Given the description of an element on the screen output the (x, y) to click on. 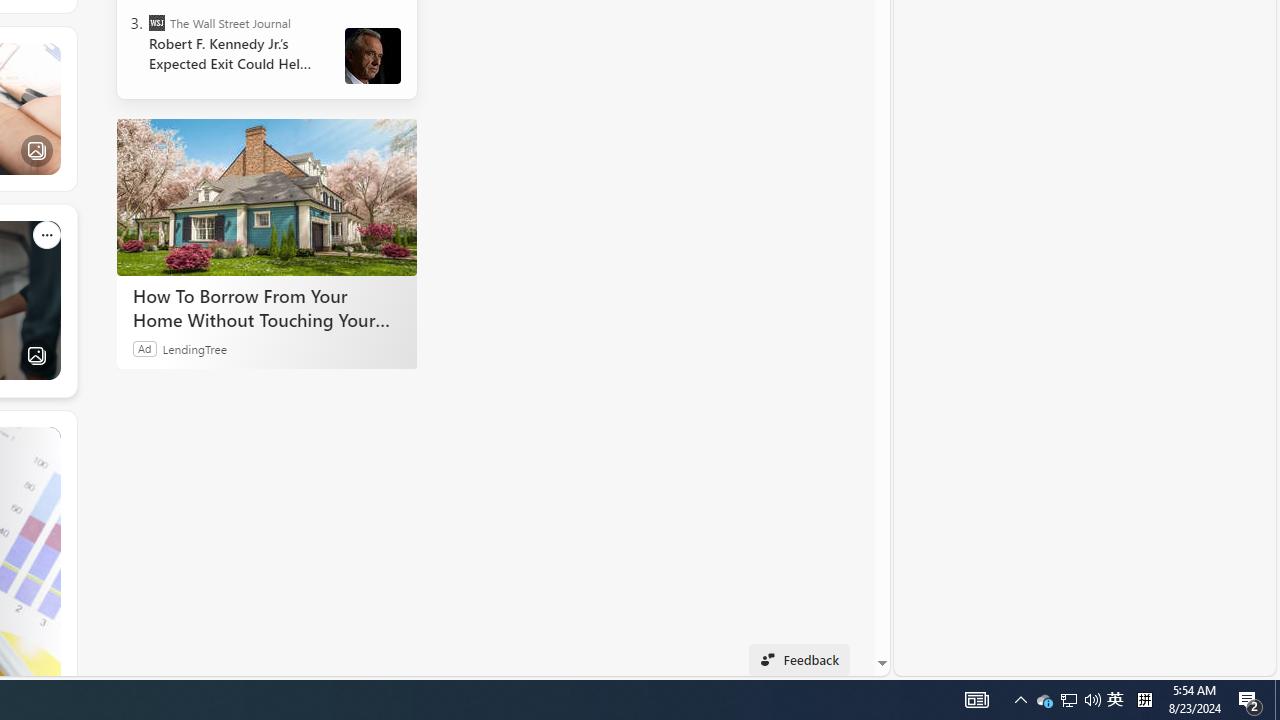
Ad (145, 348)
How To Borrow From Your Home Without Touching Your Mortgage (266, 196)
The Wall Street Journal (156, 22)
LendingTree (194, 348)
See more (46, 440)
Feedback (798, 659)
How To Borrow From Your Home Without Touching Your Mortgage (266, 307)
